Given the description of an element on the screen output the (x, y) to click on. 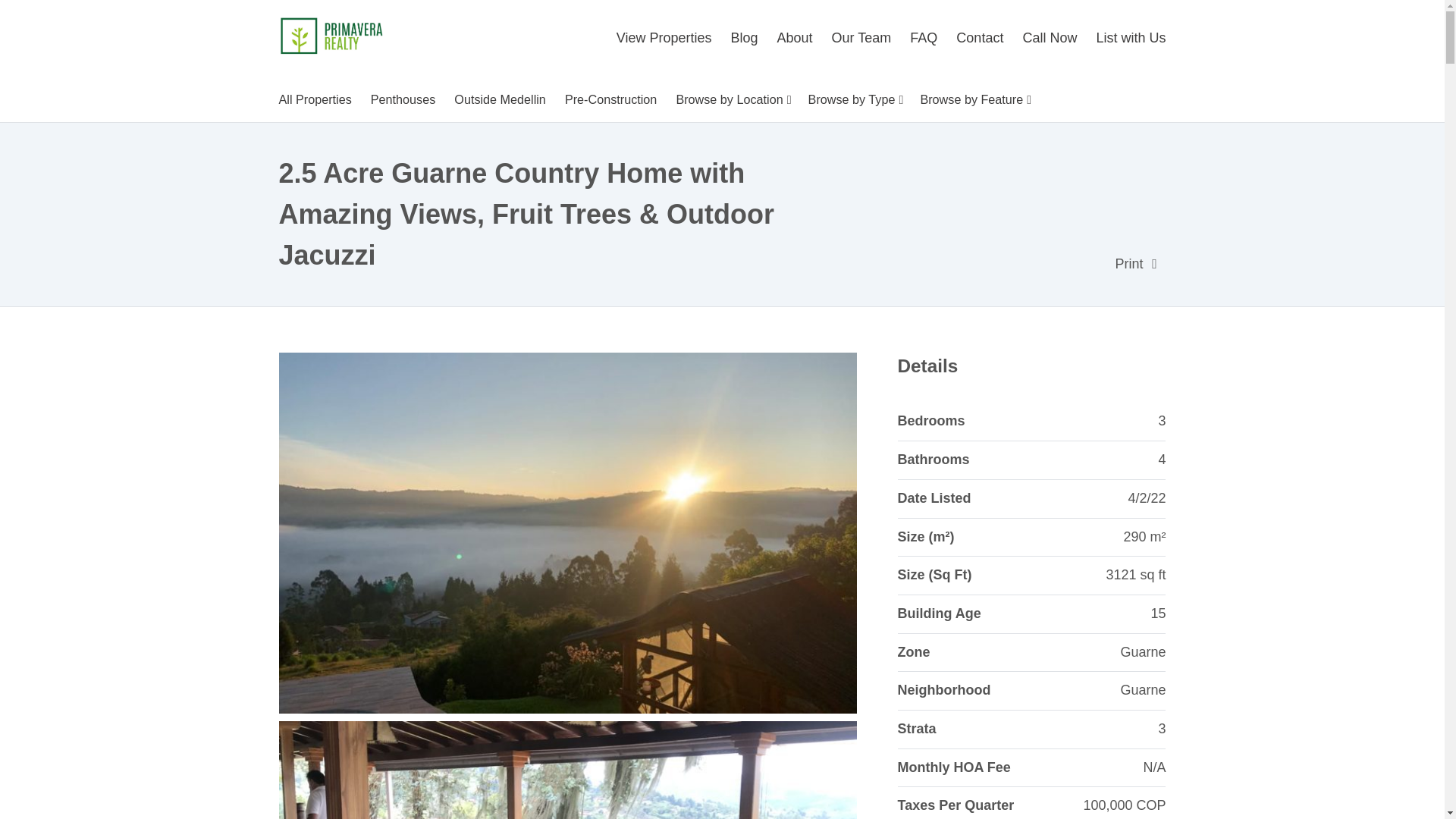
FAQ (923, 37)
Browse by Location (732, 99)
View Properties (667, 37)
Penthouses (403, 99)
Browse by Feature (974, 99)
About (795, 37)
Browse by Type (854, 99)
Call Now (1049, 37)
All Properties (319, 99)
Contact (979, 37)
Blog (744, 37)
Pre-Construction (610, 99)
List with Us (1126, 37)
Outside Medellin (499, 99)
Our Team (861, 37)
